Given the description of an element on the screen output the (x, y) to click on. 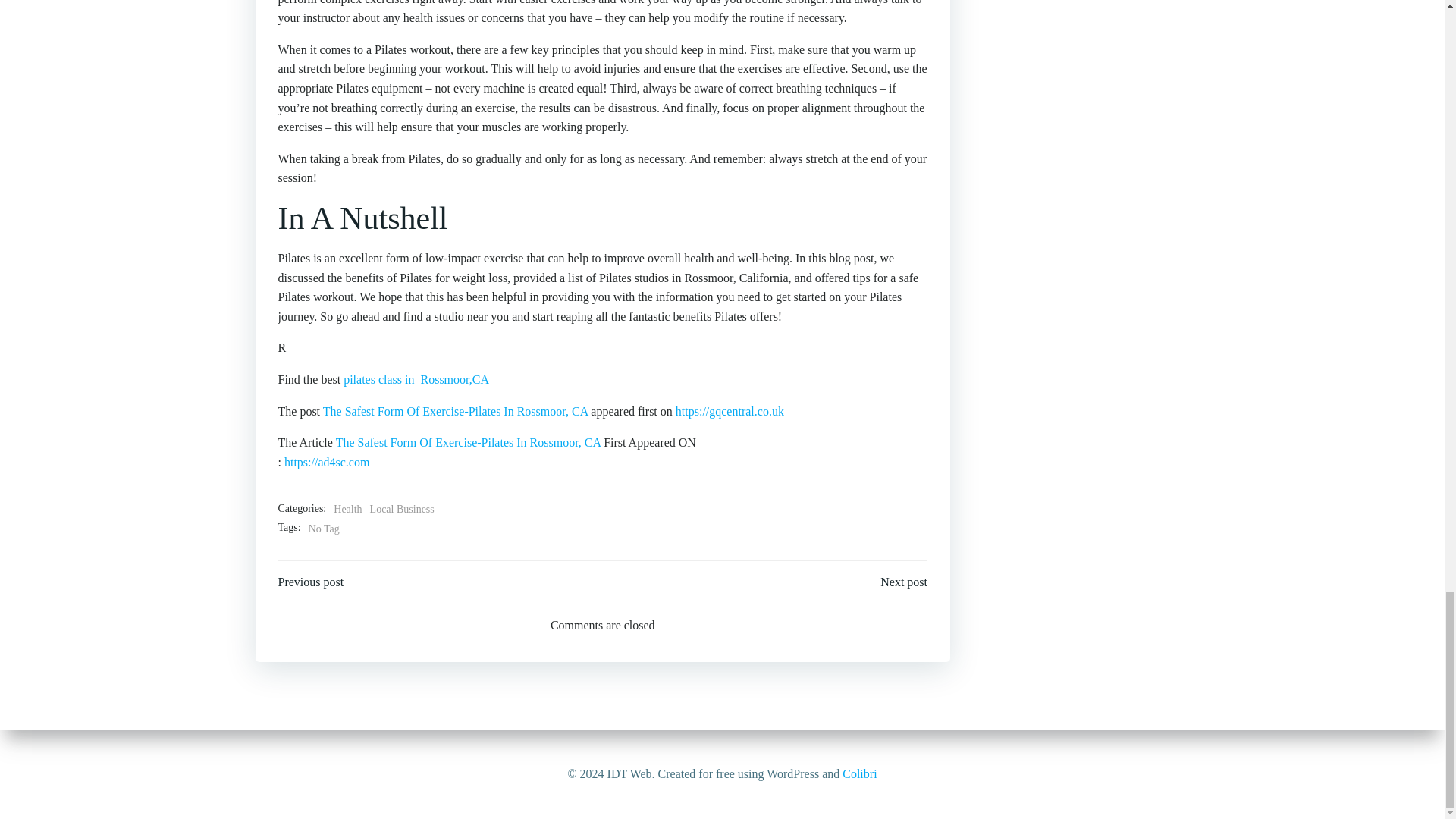
pilates class in  Rossmoor,CA (416, 379)
Health (347, 509)
Next post (903, 582)
The Safest Form Of Exercise-Pilates In Rossmoor, CA (455, 410)
Local Business (401, 509)
Previous post (310, 582)
The Safest Form Of Exercise-Pilates In Rossmoor, CA (468, 441)
